Given the description of an element on the screen output the (x, y) to click on. 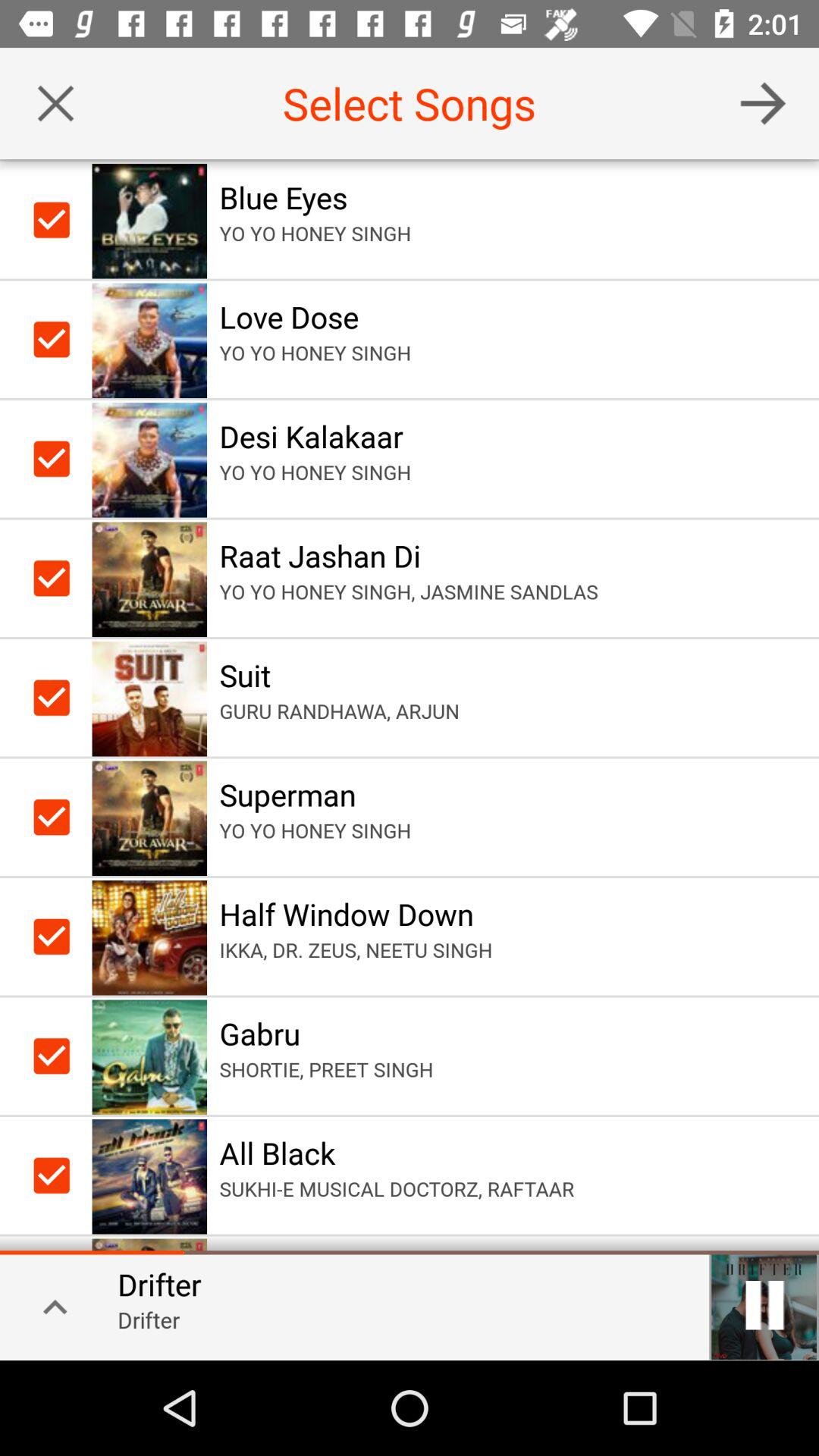
turn off the item next to drifter (49, 1305)
